Given the description of an element on the screen output the (x, y) to click on. 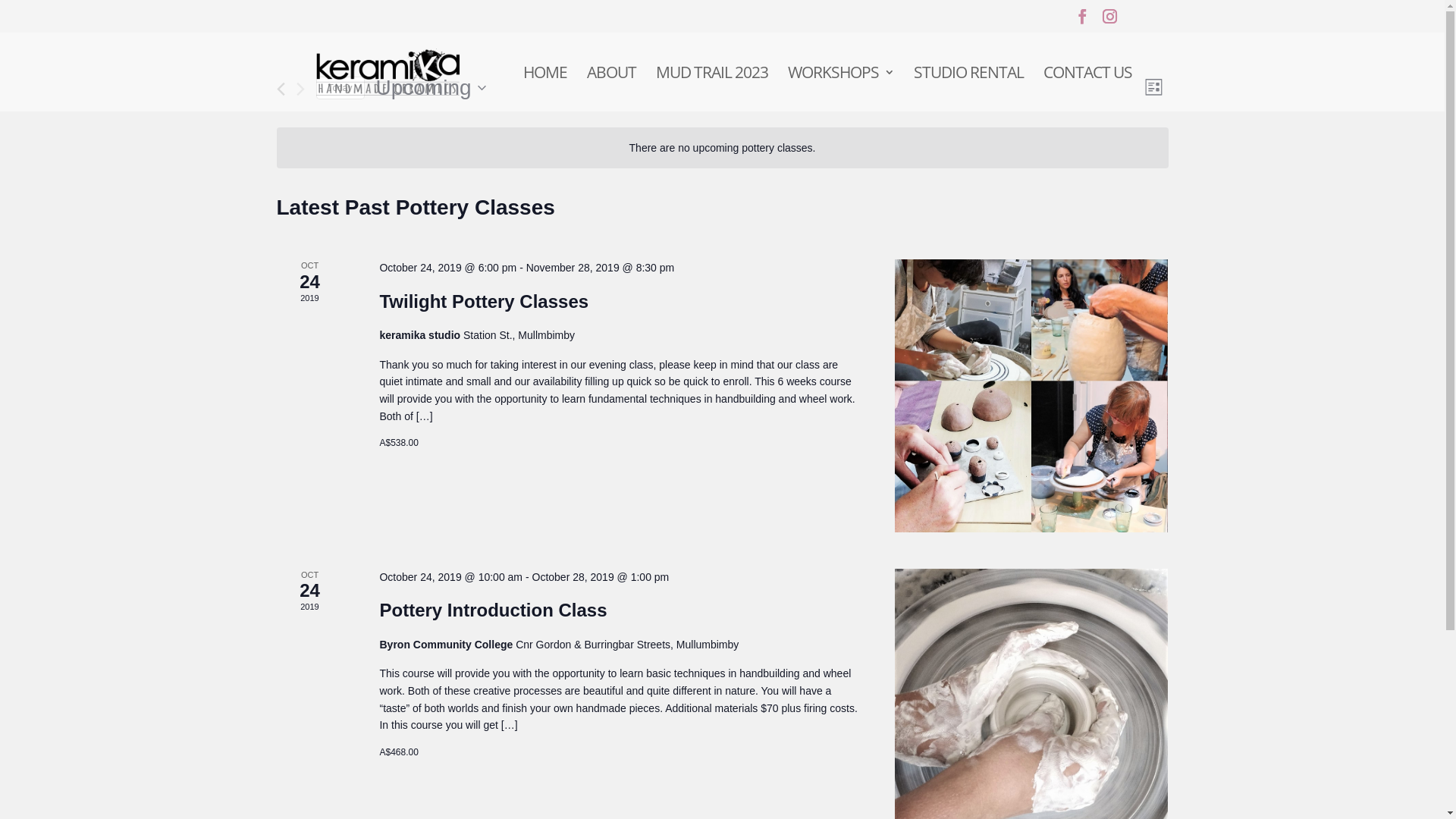
List Element type: text (1153, 87)
HOME Element type: text (545, 88)
WORKSHOPS Element type: text (840, 88)
Twilight Pottery Classes Element type: text (483, 301)
Next Pottery Classes Element type: hover (299, 88)
Today Element type: text (339, 88)
ABOUT Element type: text (611, 88)
Upcoming Element type: text (431, 87)
Previous Pottery Classes Element type: hover (280, 88)
Pottery Introduction Class Element type: text (492, 610)
MUD TRAIL 2023 Element type: text (711, 88)
STUDIO RENTAL Element type: text (967, 88)
CONTACT US Element type: text (1087, 88)
Twilight Pottery Classes Element type: hover (1030, 395)
